Given the description of an element on the screen output the (x, y) to click on. 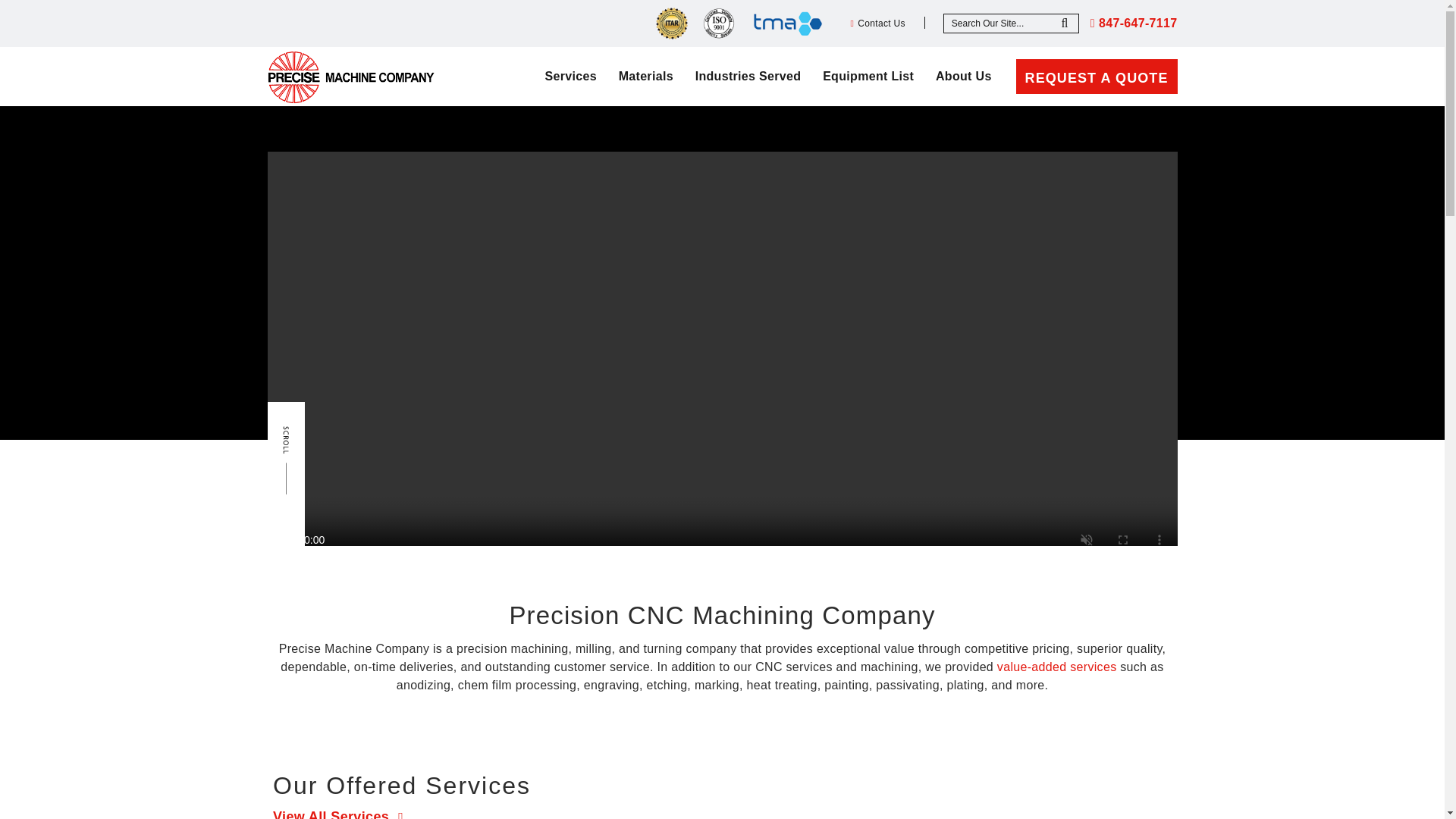
Materials (645, 76)
847-647-7117 (1133, 23)
Services (569, 76)
Home - Precise Machine Company (349, 77)
Contact Us (877, 23)
REQUEST A QUOTE (1096, 76)
Industries Served (748, 76)
Equipment List (868, 76)
About Us (963, 76)
